Given the description of an element on the screen output the (x, y) to click on. 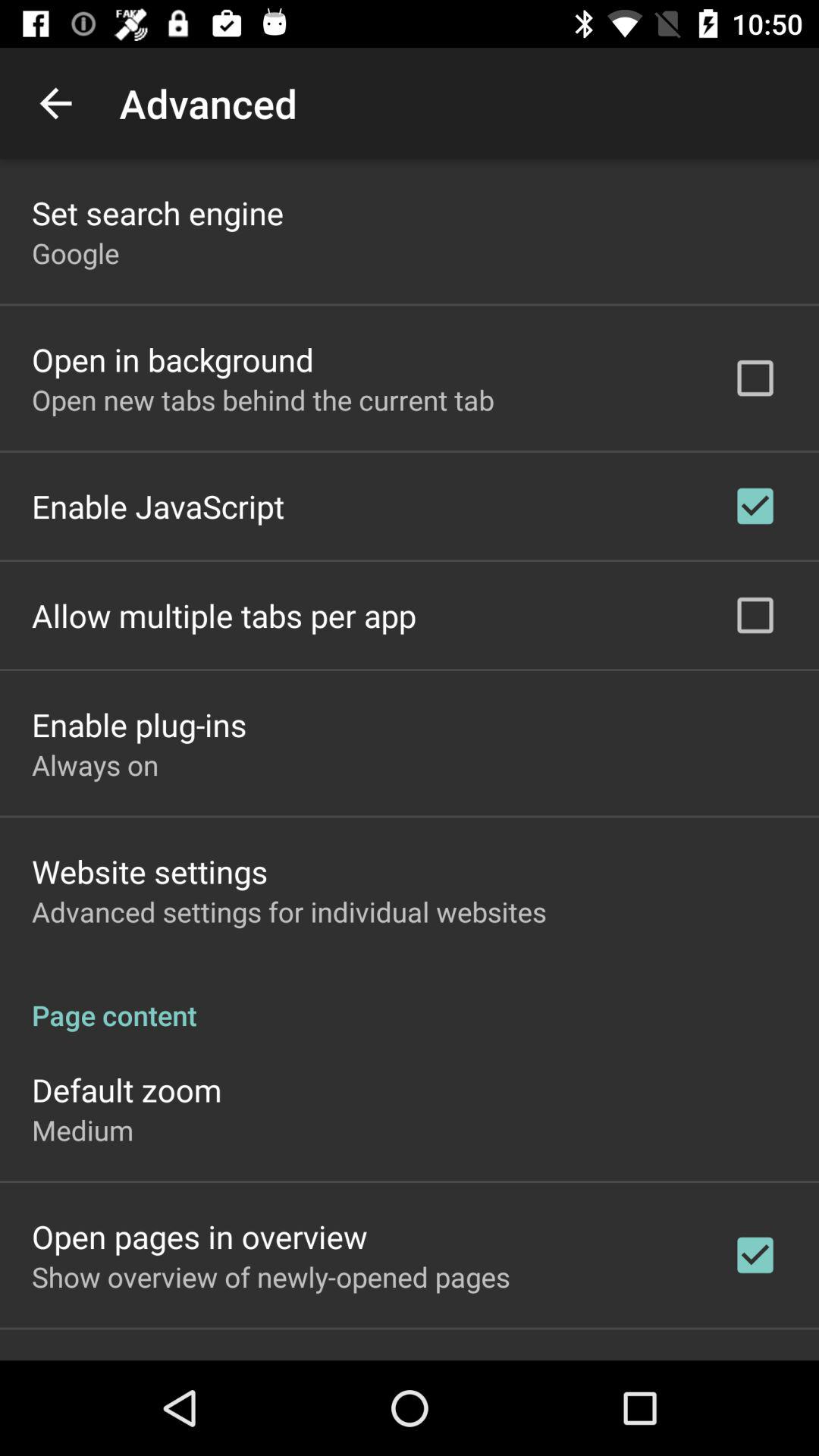
select the icon below enable plug-ins item (94, 764)
